Given the description of an element on the screen output the (x, y) to click on. 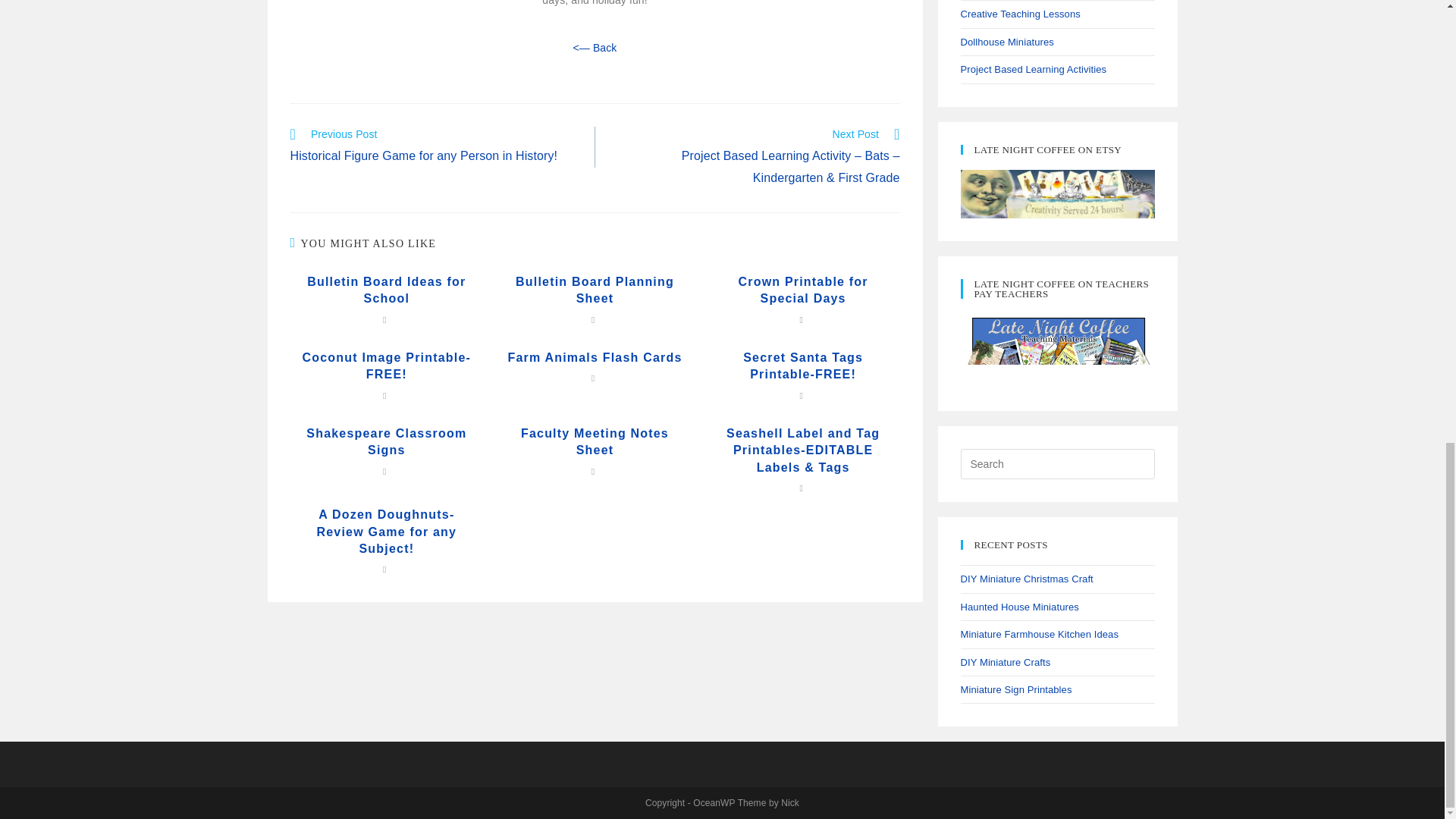
Secret Santa Tags Printable-FREE! (803, 366)
Shakespeare Classroom Signs (386, 442)
Faculty Meeting Notes Sheet (594, 442)
Farm Animals Flash Cards (594, 357)
A Dozen Doughnuts-Review Game for any Subject! (386, 531)
Dollhouse Miniatures (1005, 41)
Project Based Learning Activities (1032, 69)
A Dozen Doughnuts-Review Game for any Subject! (386, 531)
Bulletin Board Planning Sheet (594, 290)
